Given the description of an element on the screen output the (x, y) to click on. 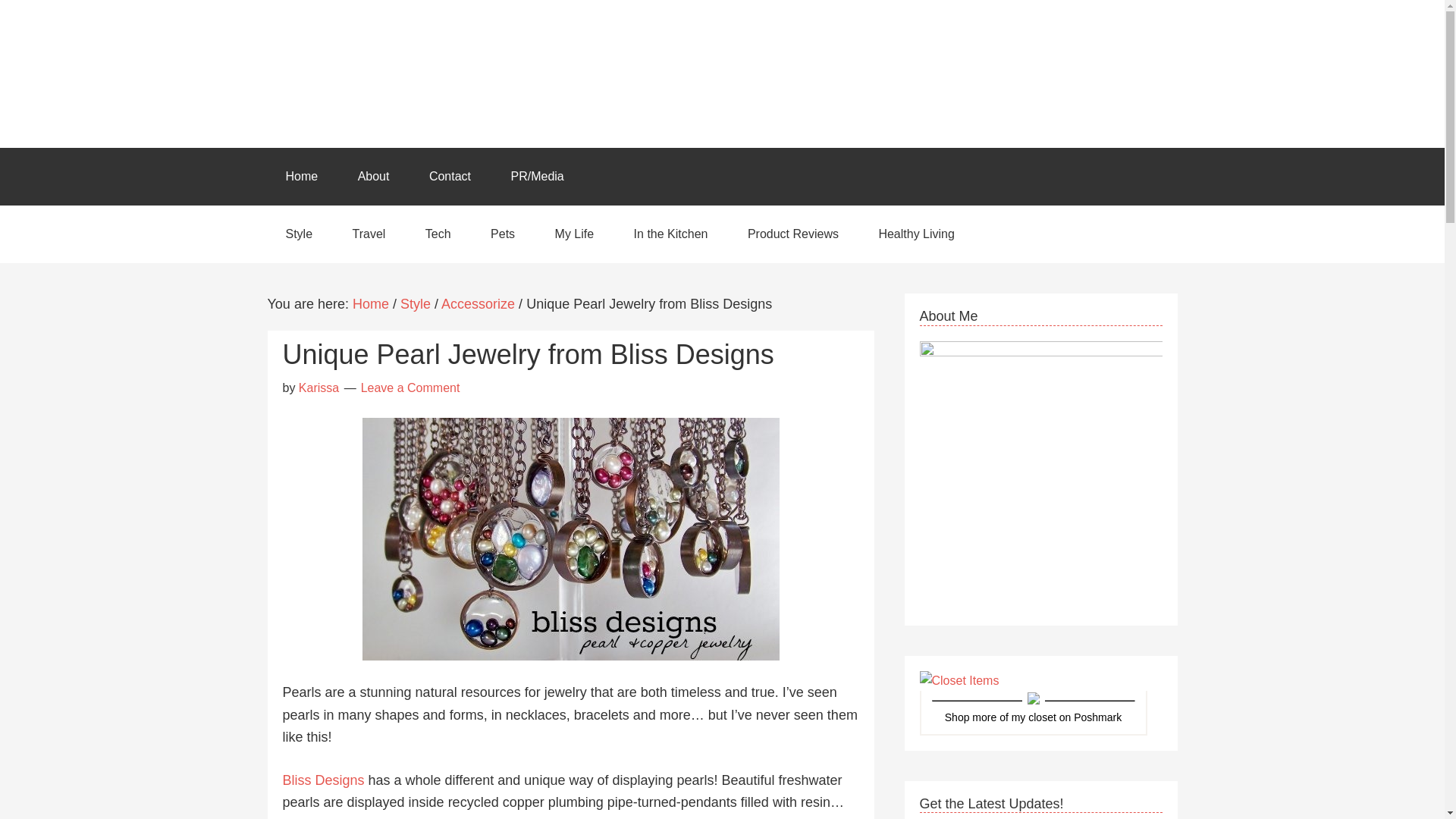
Karissa (318, 387)
Product Reviews (793, 233)
My Life (574, 233)
Healthy Living (916, 233)
With Our Best - Denver Lifestyle Blog (721, 73)
anne bliss jewelry designs (570, 538)
Accessorize (478, 304)
Style (298, 233)
In the Kitchen (670, 233)
Leave a Comment (410, 387)
